Given the description of an element on the screen output the (x, y) to click on. 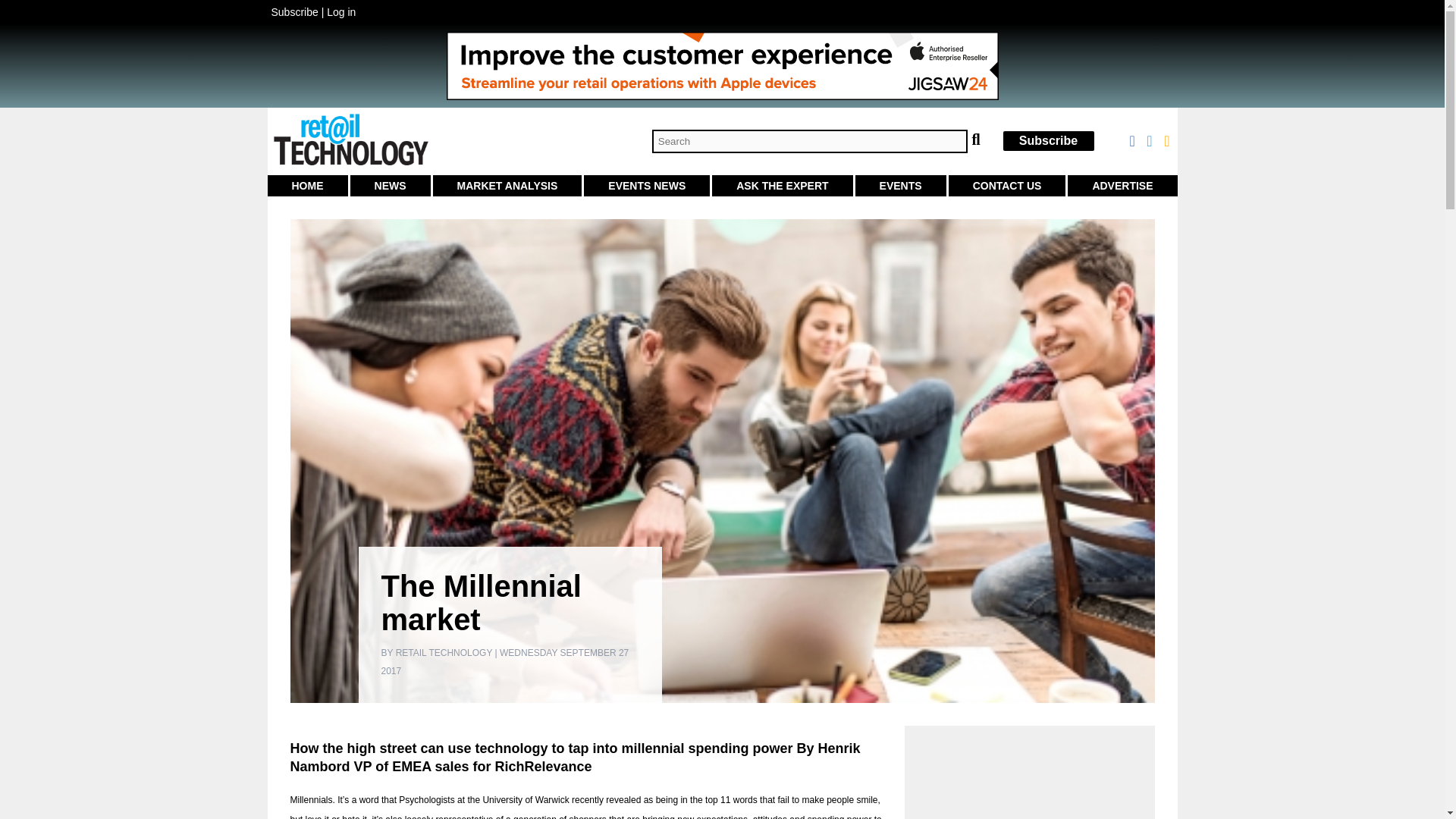
HOME (306, 185)
EVENTS (901, 185)
ASK THE EXPERT (781, 185)
advertisement (1028, 778)
Log in (340, 11)
MARKET ANALYSIS (507, 185)
Subscribe (294, 11)
Subscribe (1048, 140)
CONTACT US (1007, 185)
EVENTS NEWS (646, 185)
ADVERTISE (1121, 185)
NEWS (390, 185)
